Given the description of an element on the screen output the (x, y) to click on. 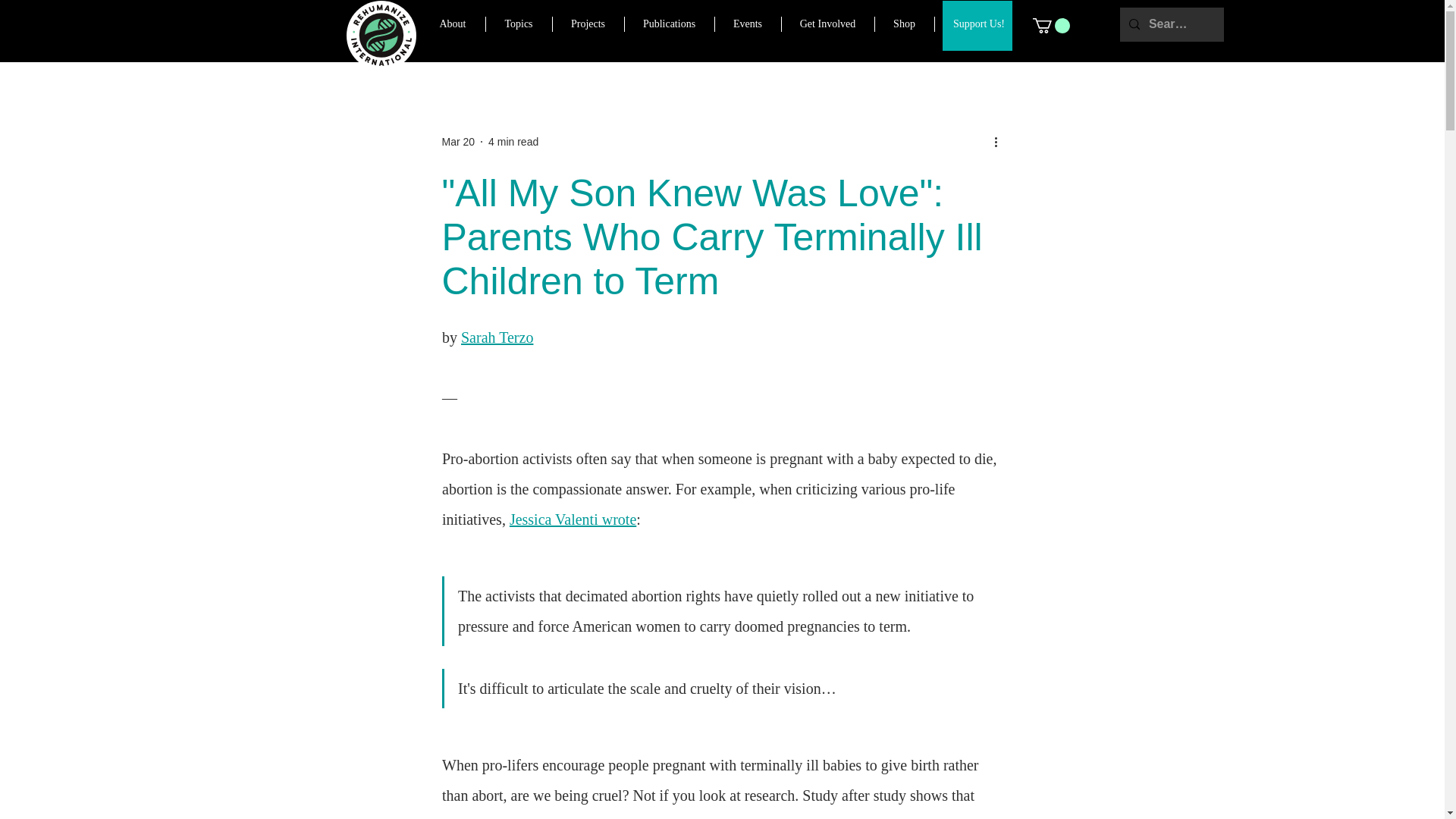
4 min read (512, 141)
Get Involved (827, 23)
Events (747, 23)
Projects (587, 23)
Mar 20 (457, 141)
